Given the description of an element on the screen output the (x, y) to click on. 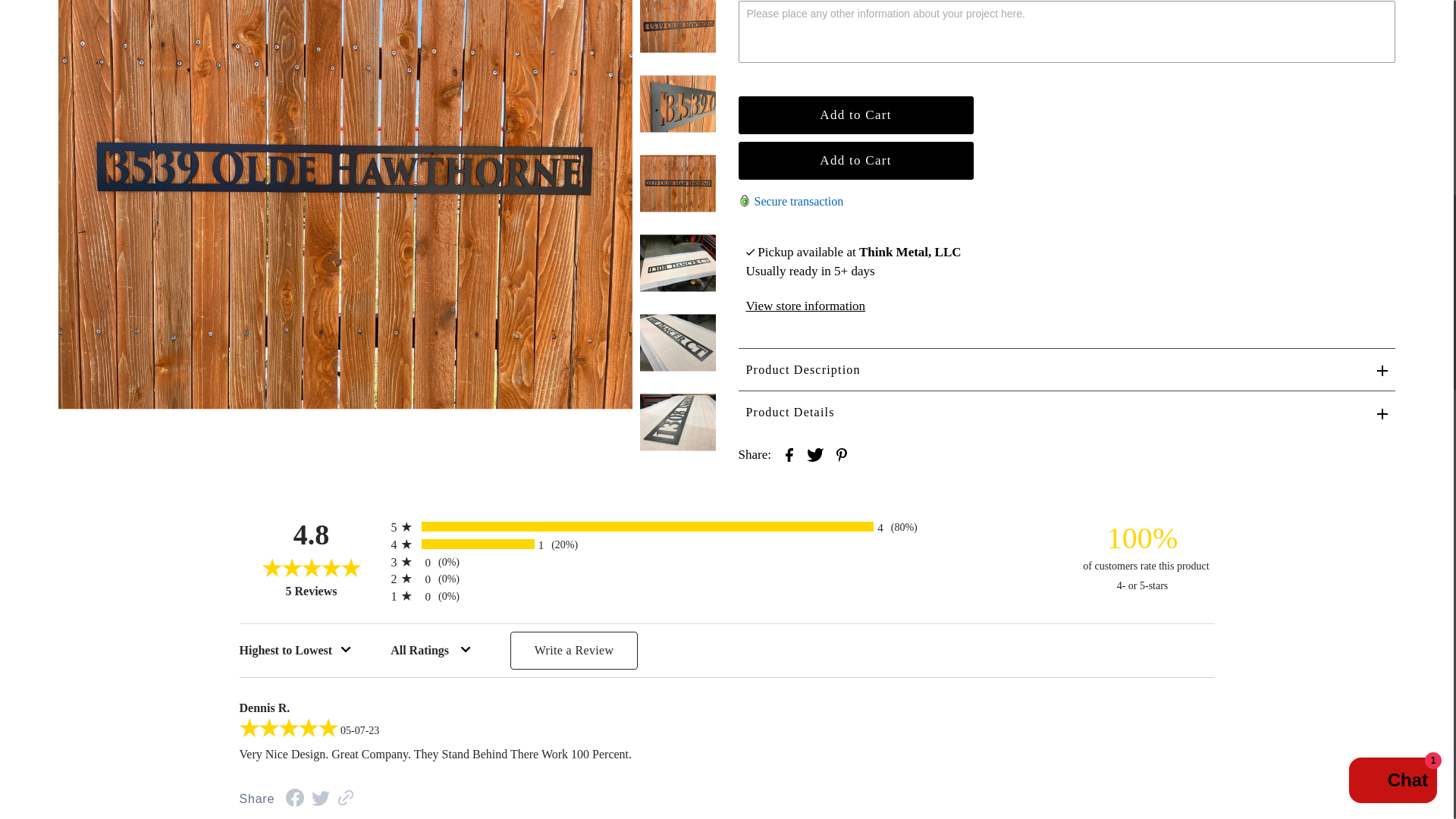
Share on Twitter (815, 454)
Share on Facebook (788, 454)
Share on Pinterest (841, 454)
Add to Cart (856, 115)
Add to Cart (856, 160)
